Given the description of an element on the screen output the (x, y) to click on. 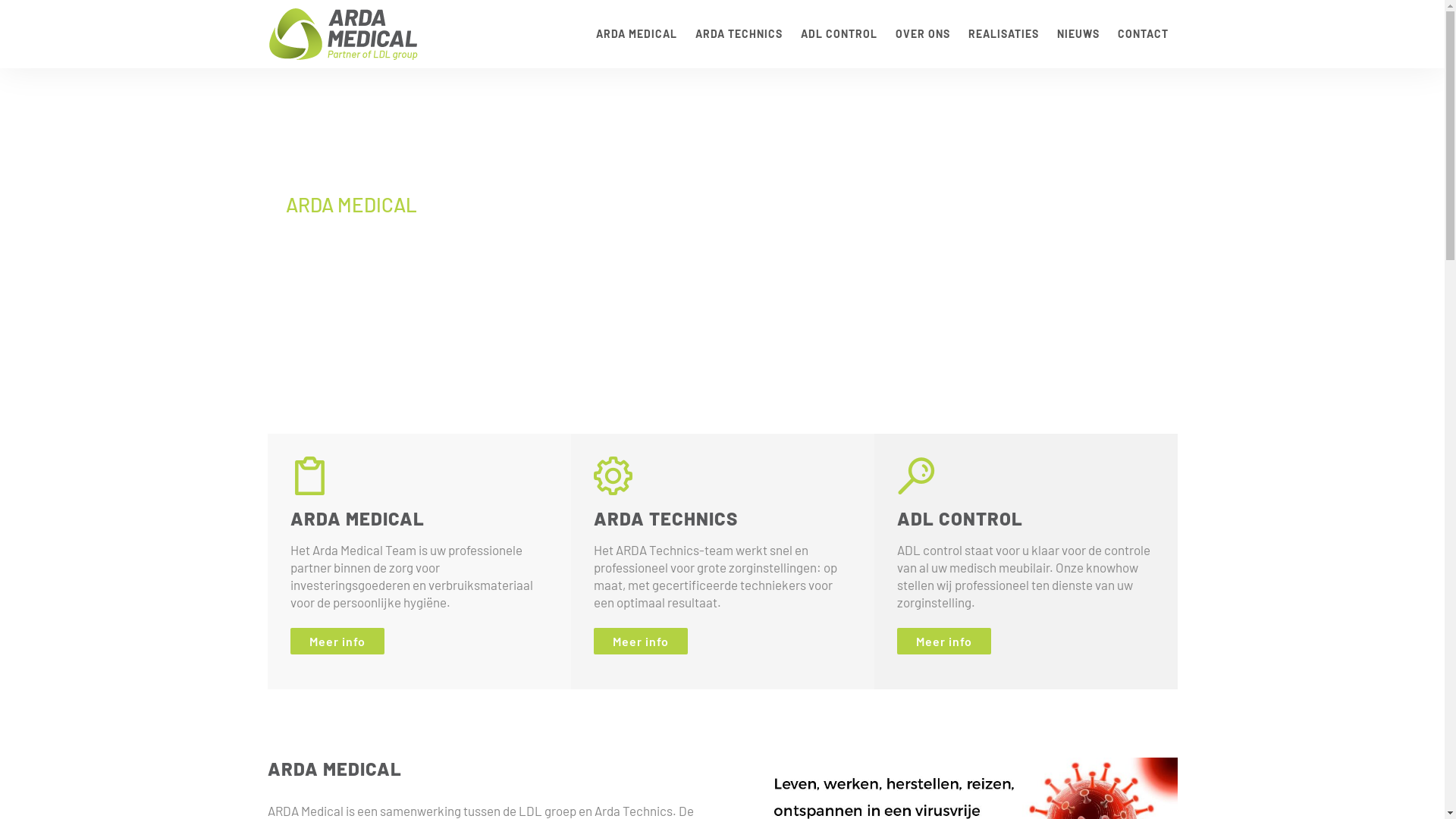
Meer info Element type: text (640, 640)
NIEUWS Element type: text (1078, 34)
ADL CONTROL Element type: text (838, 34)
REALISATIES Element type: text (1002, 34)
Meer info Element type: text (336, 640)
OVER ONS Element type: text (921, 34)
ARDA MEDICAL Element type: text (636, 34)
ARDA TECHNICS Element type: text (737, 34)
CONTACT Element type: text (1142, 34)
Meer info Element type: text (943, 640)
